Given the description of an element on the screen output the (x, y) to click on. 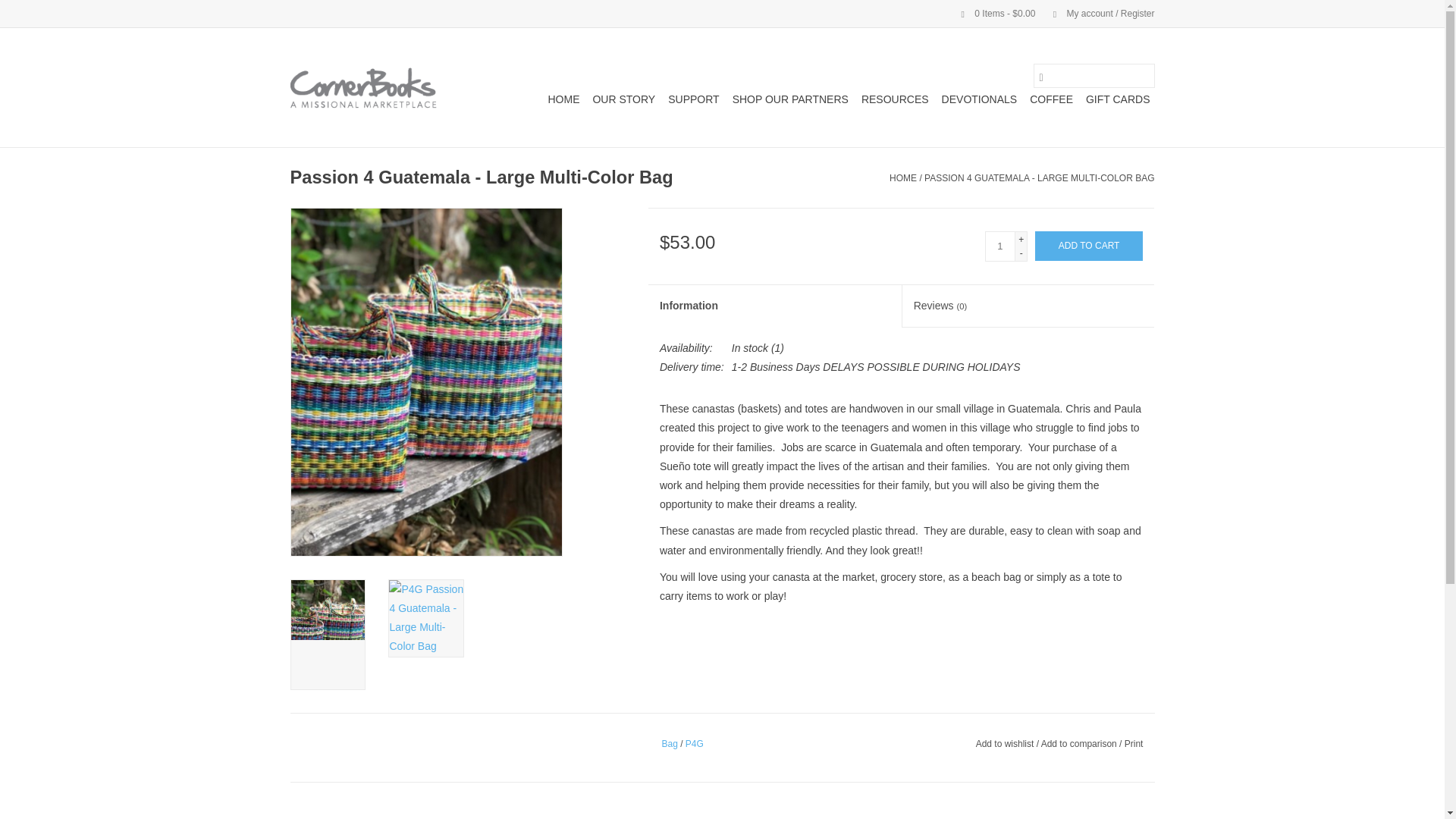
ADD TO CART (1088, 245)
Resources (895, 98)
HOME (563, 98)
DEVOTIONALS (979, 98)
OUR STORY (623, 98)
Shop Our Partners (790, 98)
Bag (669, 743)
Cart (992, 13)
Support (693, 98)
COFFEE (1051, 98)
